Given the description of an element on the screen output the (x, y) to click on. 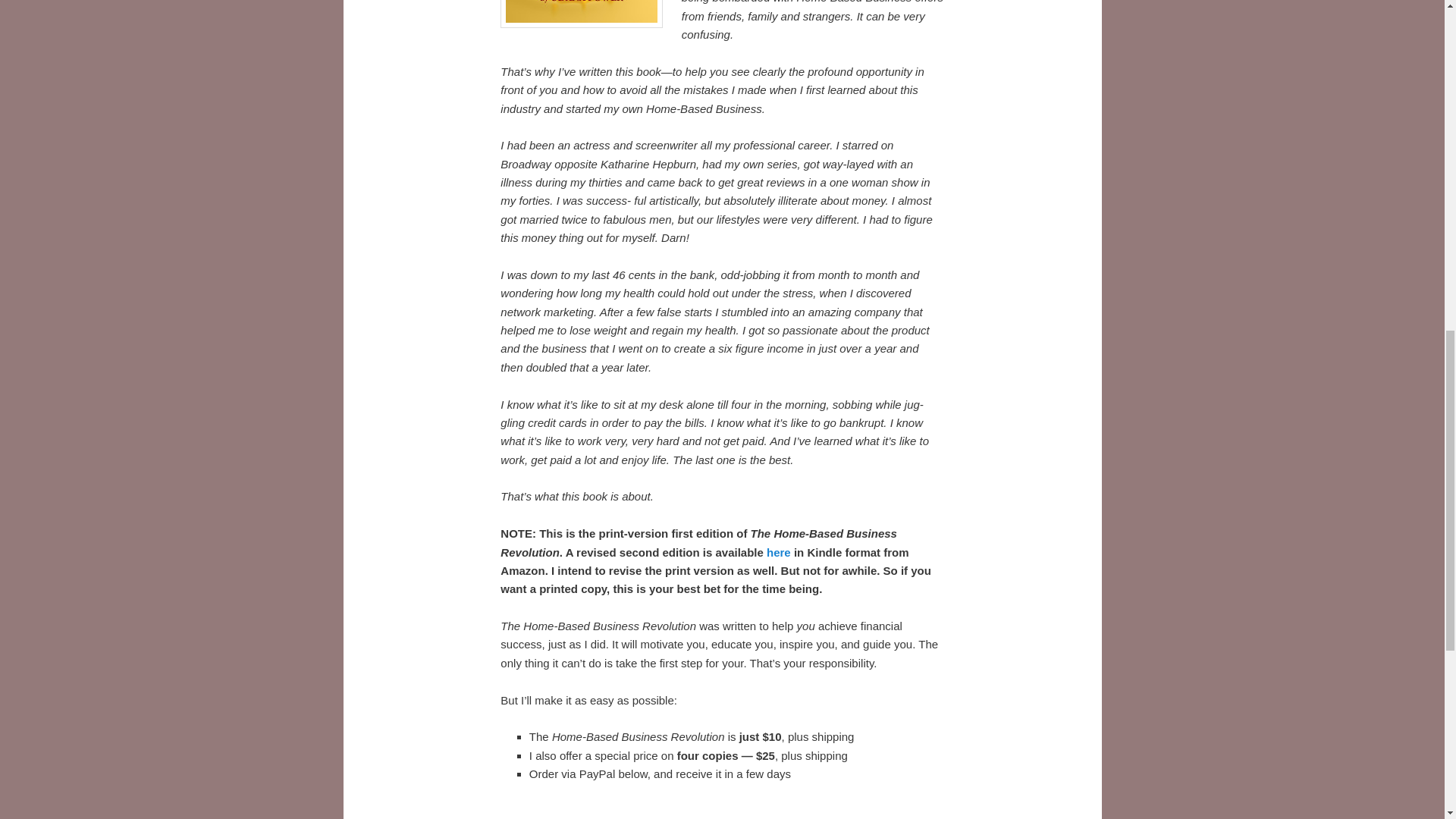
here (778, 552)
here (778, 552)
